Given the description of an element on the screen output the (x, y) to click on. 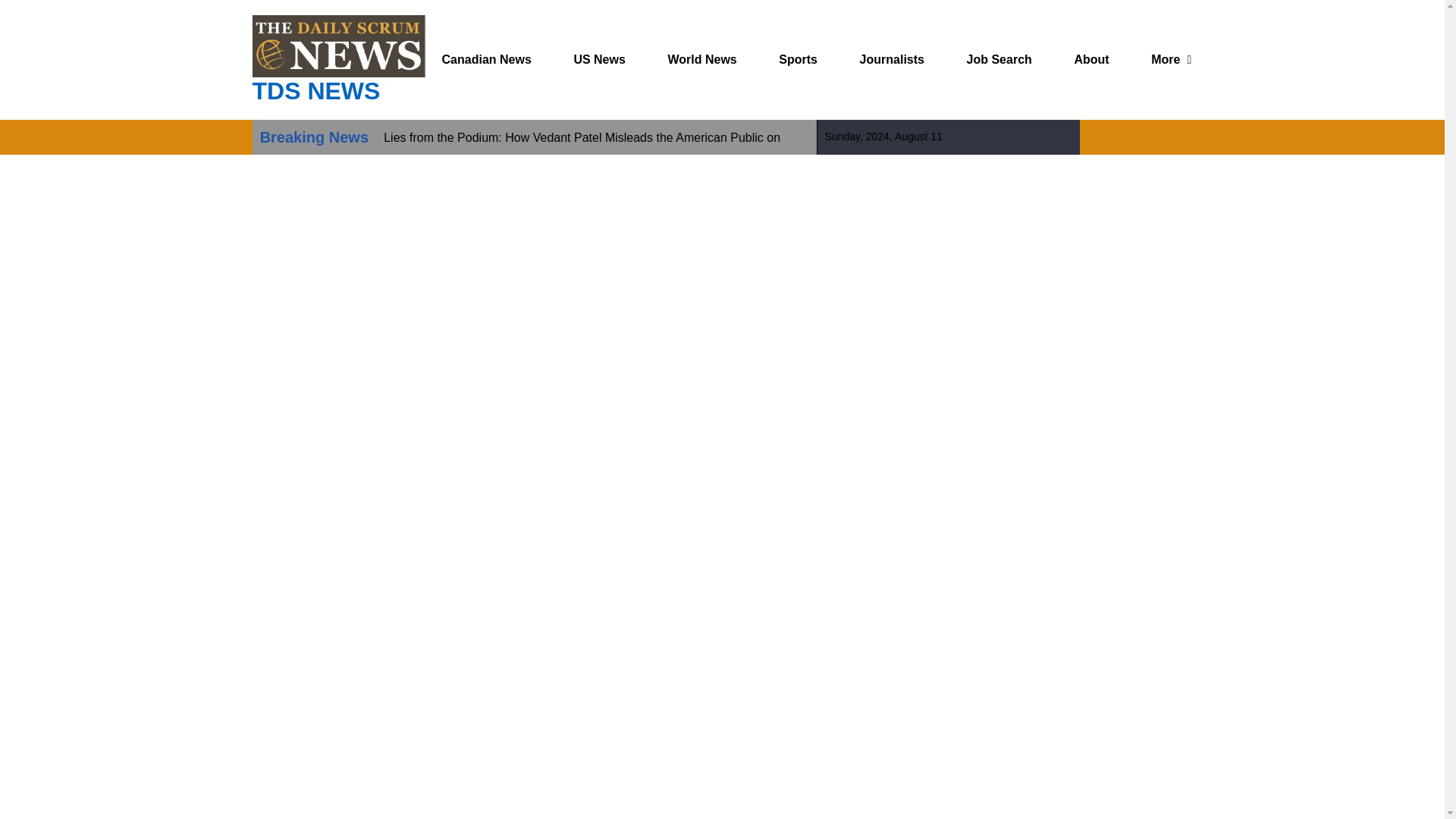
TDS NEWS (315, 90)
Journalists (892, 59)
Job Search (999, 59)
US News (598, 59)
Canadian News (486, 59)
Sports (797, 59)
About (1091, 59)
More (1165, 59)
World News (701, 59)
